Given the description of an element on the screen output the (x, y) to click on. 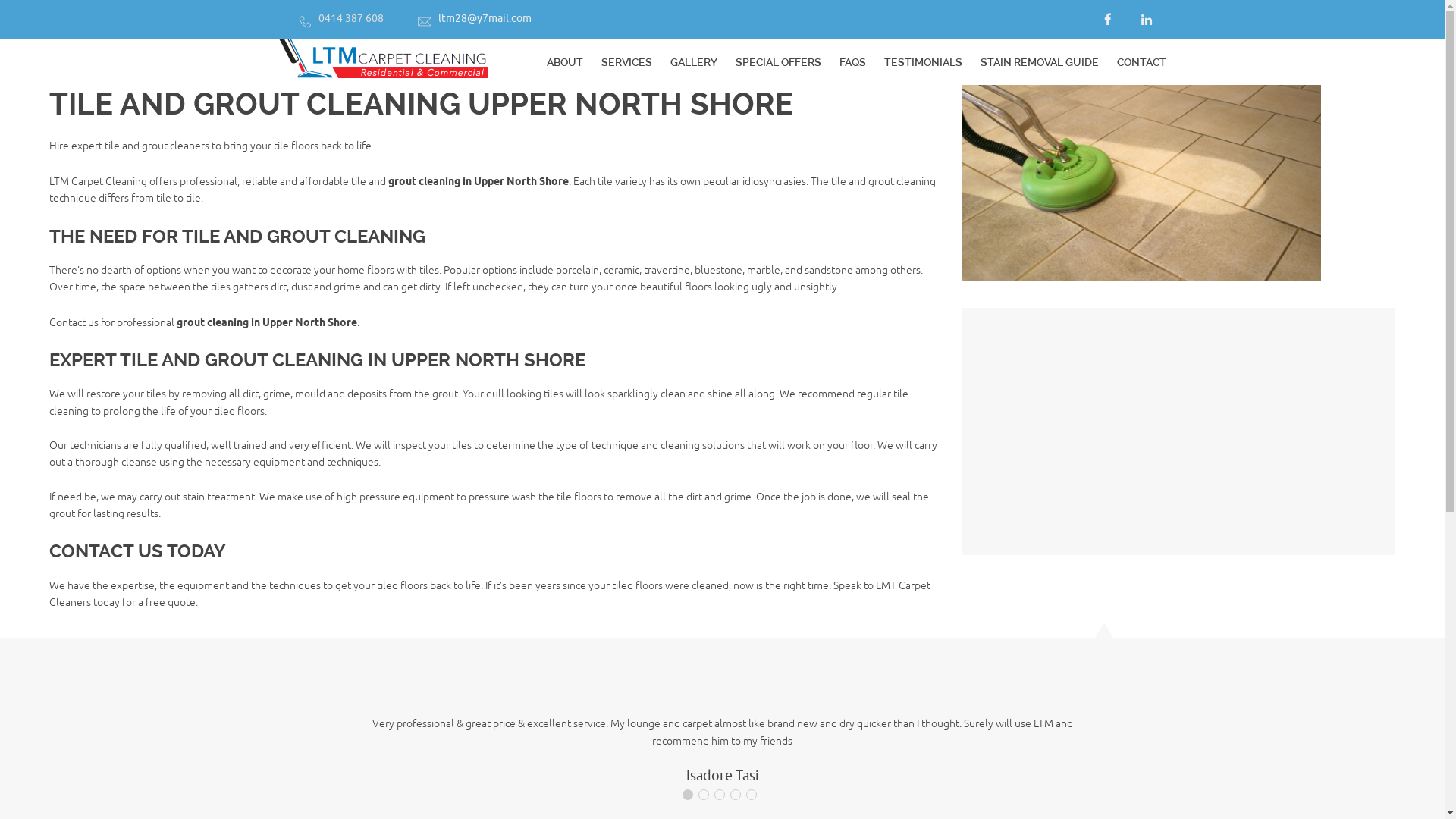
CONTACT Element type: text (1140, 61)
TESTIMONIALS Element type: text (923, 61)
FAQS Element type: text (851, 61)
STAIN REMOVAL GUIDE Element type: text (1038, 61)
ABOUT Element type: text (564, 61)
SERVICES Element type: text (625, 61)
LMT Carpet Cleaners Element type: text (489, 593)
ltm28@y7mail.com Element type: text (484, 18)
SPECIAL OFFERS Element type: text (778, 61)
GALLERY Element type: text (693, 61)
